Given the description of an element on the screen output the (x, y) to click on. 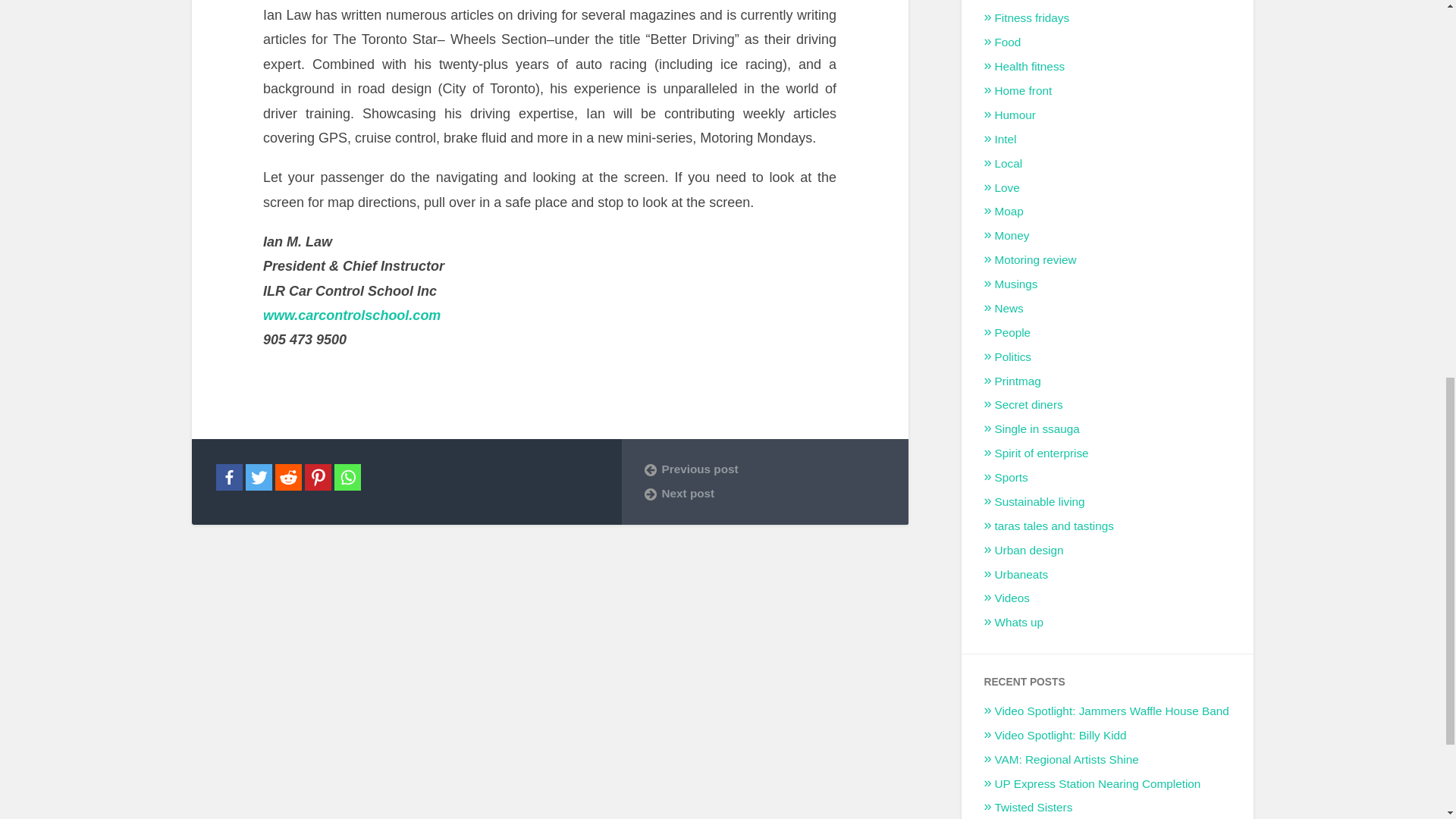
www.carcontrolschool.com (352, 327)
Previous post (765, 468)
Whatsapp (346, 477)
Pinterest (317, 477)
Facebook (228, 477)
Twitter (259, 477)
Reddit (288, 477)
Next post (765, 493)
